Given the description of an element on the screen output the (x, y) to click on. 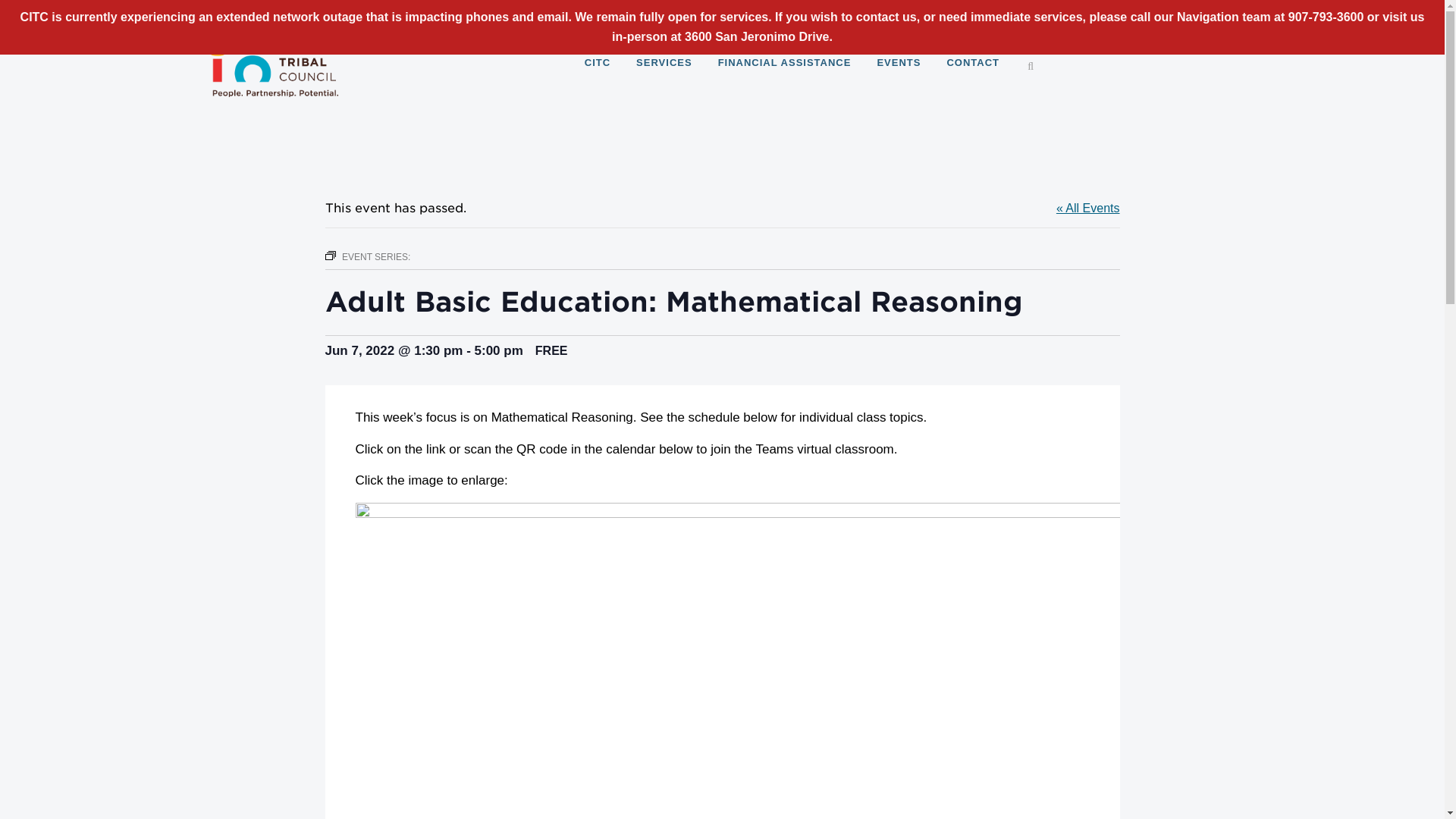
myCITC (797, 11)
CAREERS (873, 11)
SERVICES (663, 62)
Donate (945, 12)
FINANCIAL ASSISTANCE (784, 62)
CONTACT (972, 62)
EVENTS (898, 62)
